Given the description of an element on the screen output the (x, y) to click on. 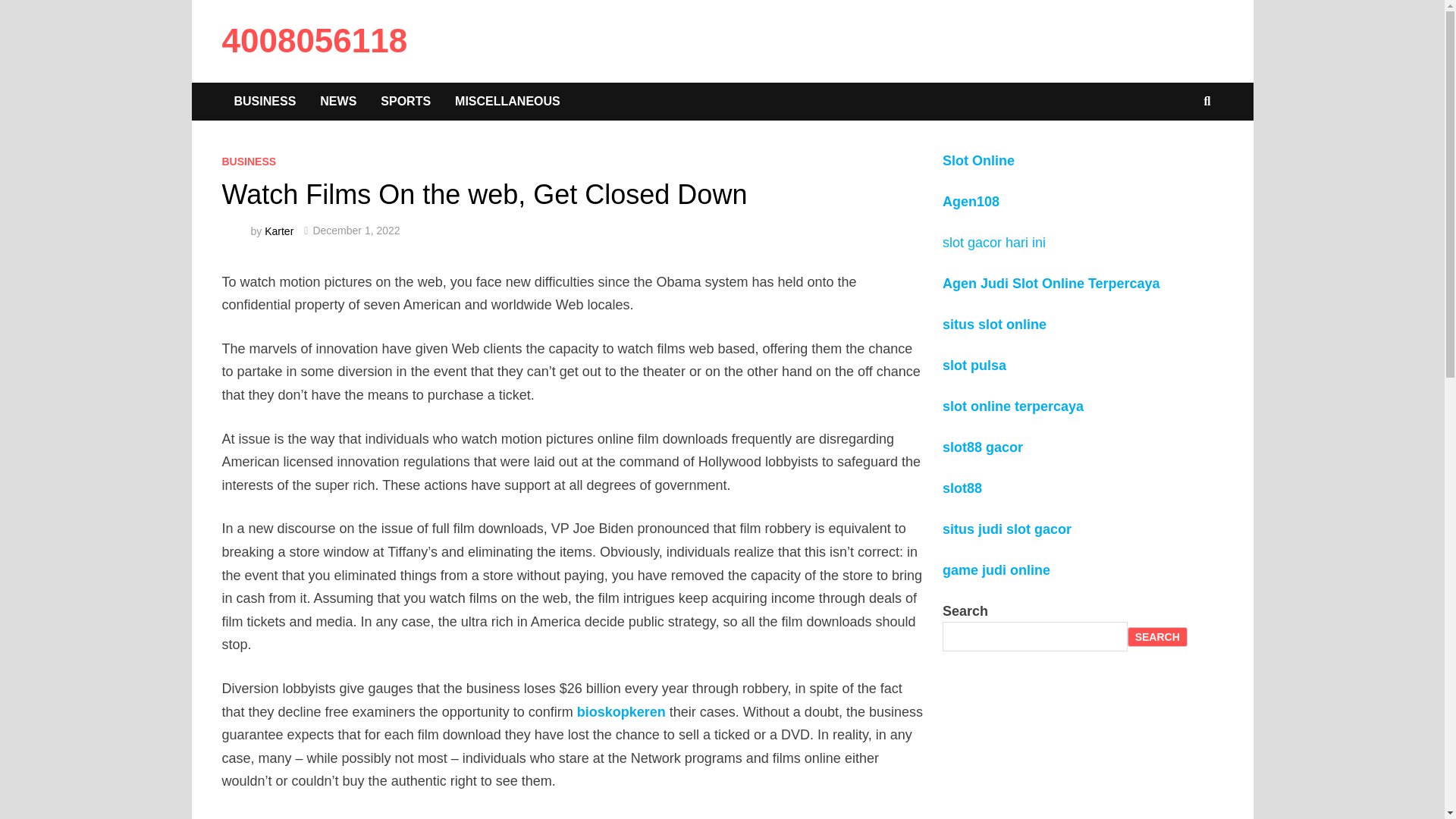
Agen108 Element type: text (970, 201)
MISCELLANEOUS Element type: text (507, 101)
Agen Judi Slot Online Terpercaya Element type: text (1051, 283)
December 1, 2022 Element type: text (355, 230)
bioskopkeren Element type: text (621, 710)
NEWS Element type: text (337, 101)
BUSINESS Element type: text (264, 101)
slot gacor hari ini Element type: text (993, 242)
slot88 Element type: text (962, 487)
SEARCH Element type: text (1157, 637)
BUSINESS Element type: text (248, 161)
Karter Element type: text (278, 230)
4008056118 Element type: text (314, 40)
SPORTS Element type: text (405, 101)
slot pulsa Element type: text (974, 365)
Slot Online Element type: text (978, 160)
situs slot online Element type: text (994, 324)
situs judi slot gacor Element type: text (1006, 528)
slot88 gacor Element type: text (982, 447)
slot online terpercaya Element type: text (1012, 406)
game judi online Element type: text (996, 569)
